Given the description of an element on the screen output the (x, y) to click on. 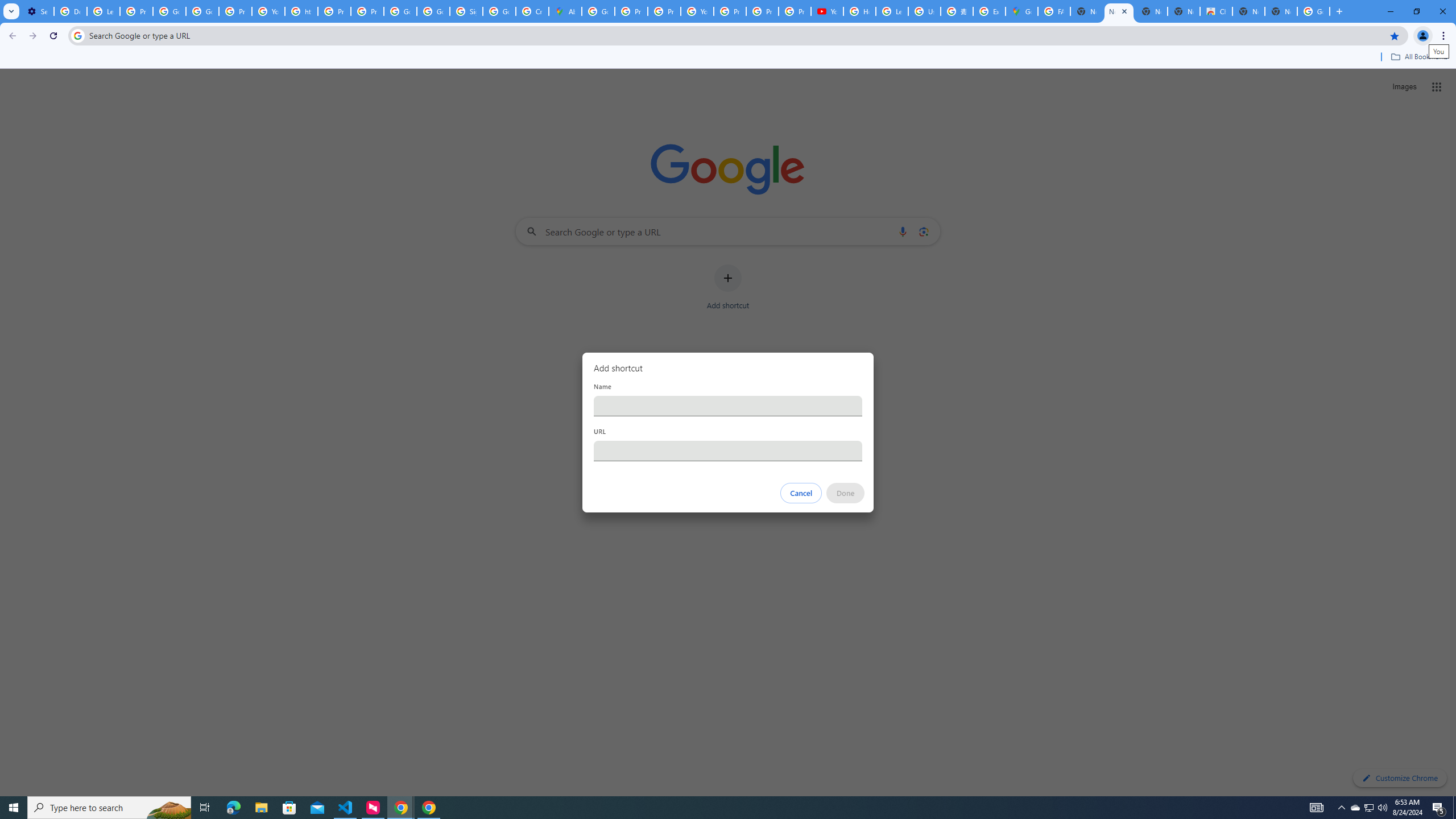
YouTube (268, 11)
Privacy Help Center - Policies Help (334, 11)
How Chrome protects your passwords - Google Chrome Help (859, 11)
YouTube (827, 11)
https://scholar.google.com/ (301, 11)
Explore new street-level details - Google Maps Help (989, 11)
Create your Google Account (532, 11)
Google Maps (1021, 11)
